Given the description of an element on the screen output the (x, y) to click on. 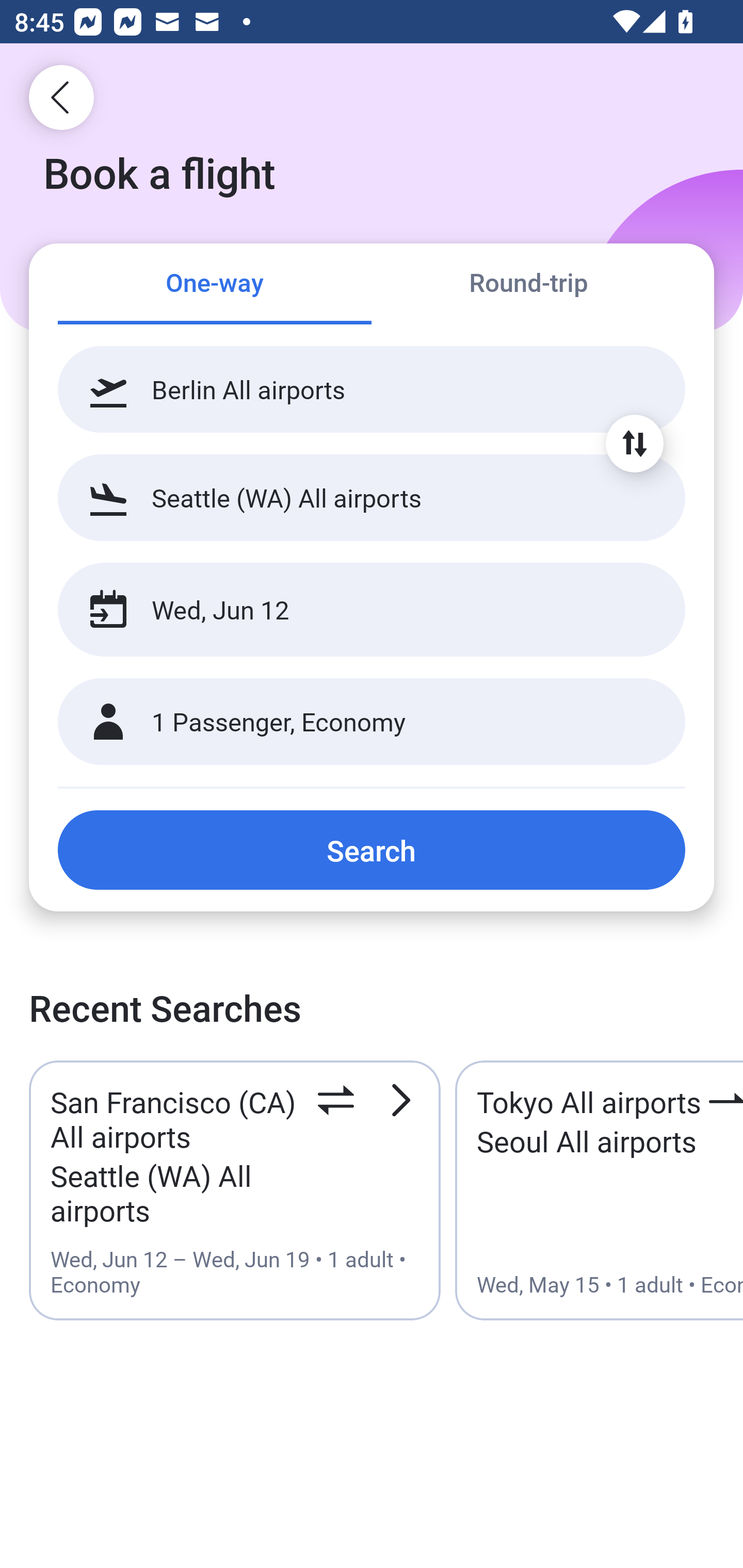
Round-trip (528, 284)
Berlin All airports (371, 389)
Seattle (WA) All airports (371, 497)
Wed, Jun 12 (349, 609)
1 Passenger, Economy (371, 721)
Search (371, 849)
